Given the description of an element on the screen output the (x, y) to click on. 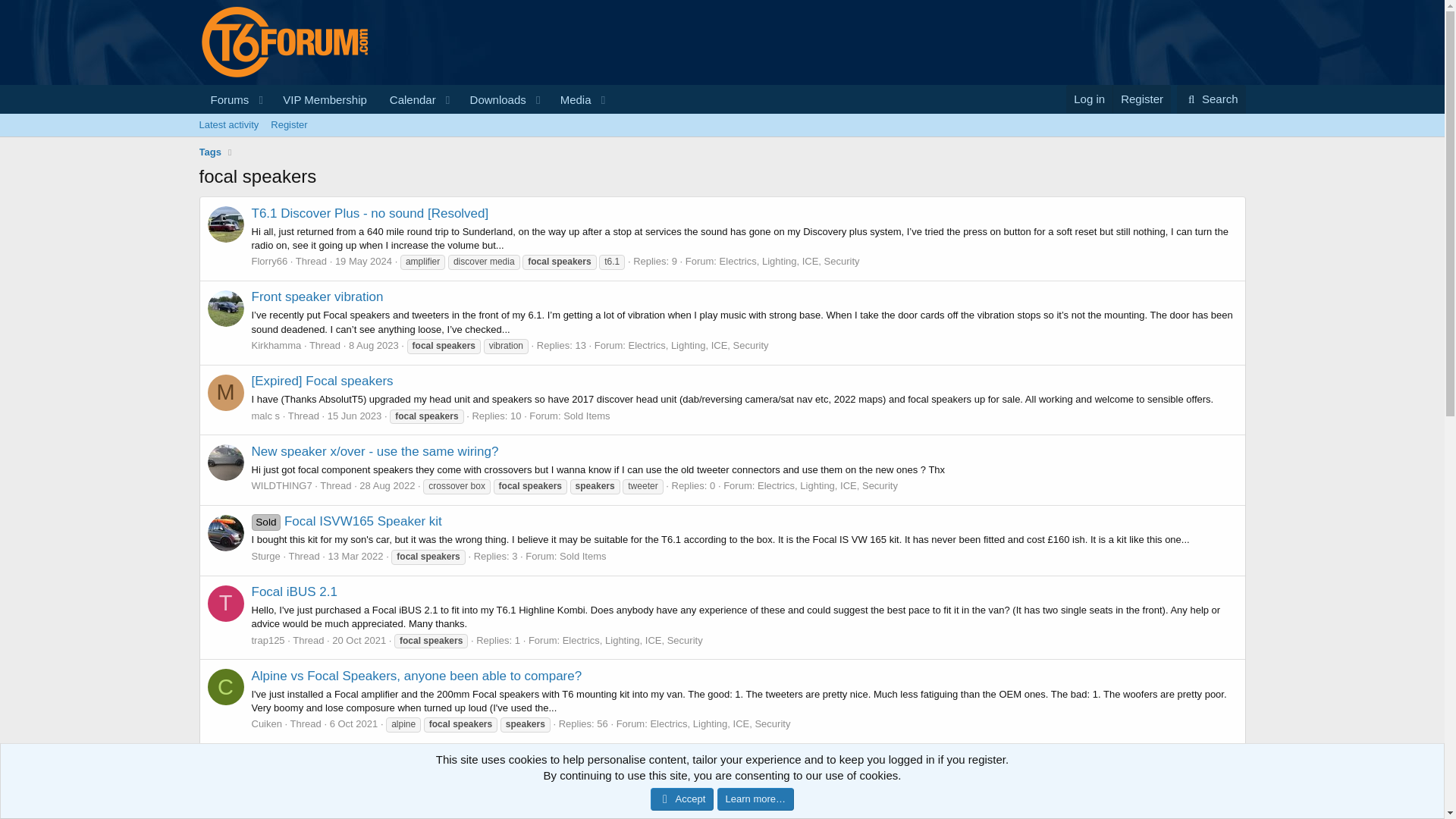
28 Aug 2022 at 10:16 (386, 485)
VIP Membership (324, 99)
19 May 2024 at 17:37 (362, 260)
13 Mar 2022 at 12:10 (354, 555)
15 Jun 2023 at 11:34 (405, 116)
Calendar (354, 415)
Log in (408, 99)
Register (1088, 99)
20 Oct 2021 at 10:18 (1141, 99)
